Given the description of an element on the screen output the (x, y) to click on. 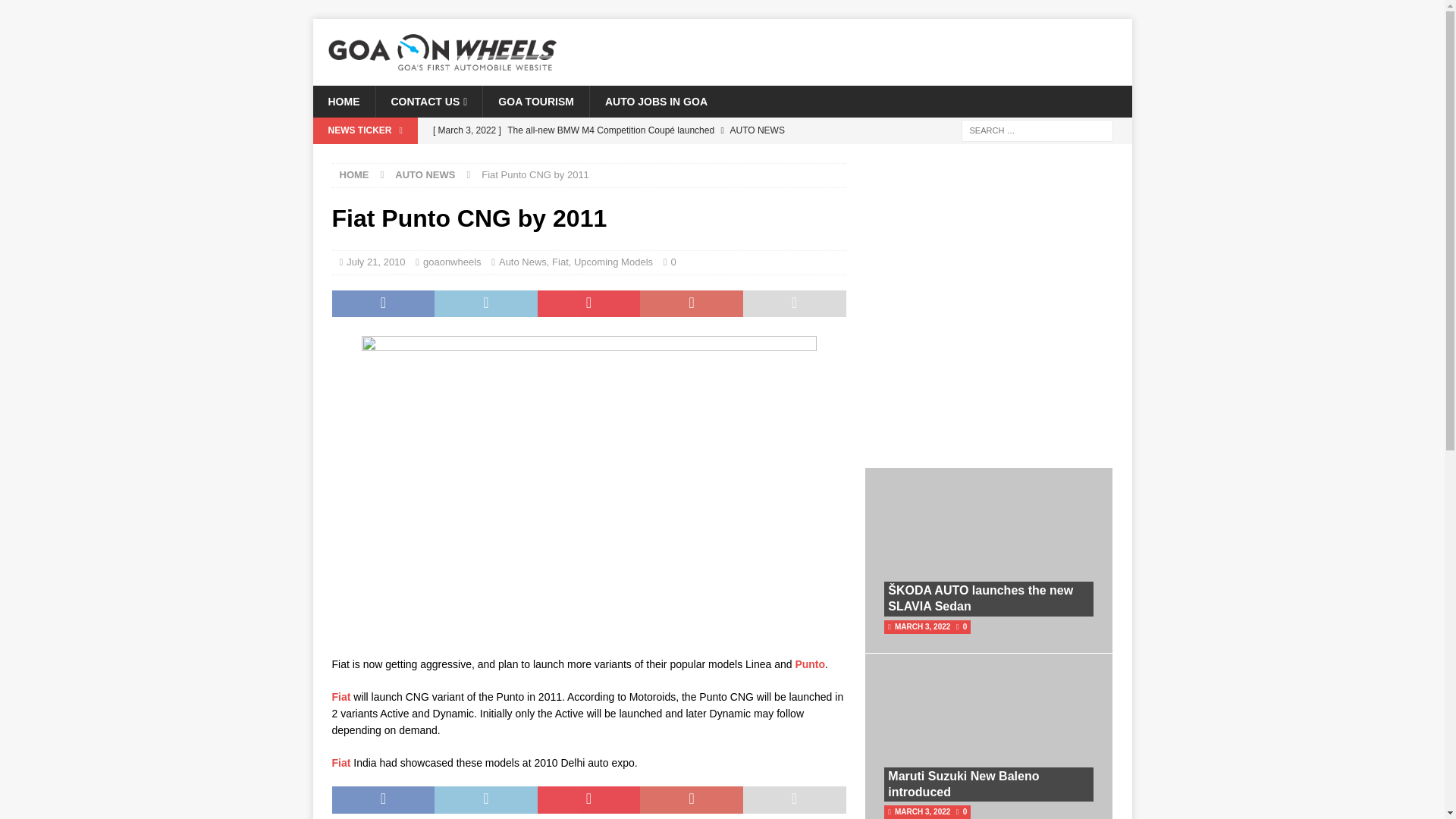
HOME (354, 174)
Punto (809, 664)
AUTO JOBS IN GOA (655, 101)
CONTACT US (427, 101)
Auto News (523, 261)
Upcoming Models (612, 261)
Fiat (340, 696)
Fiat (560, 261)
July 21, 2010 (375, 261)
HOME (343, 101)
